Given the description of an element on the screen output the (x, y) to click on. 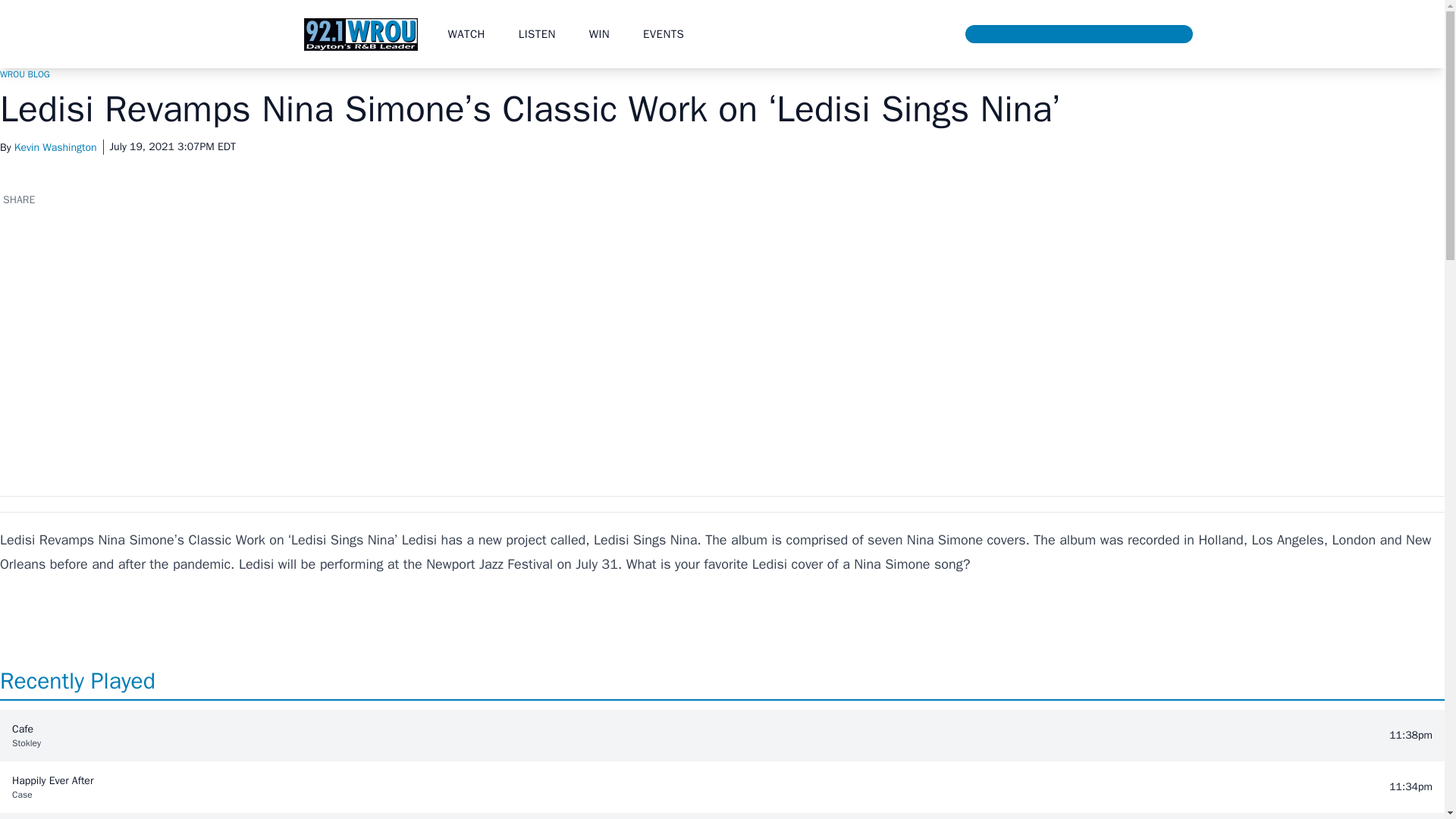
LISTEN (537, 33)
WATCH (465, 33)
Ledisi performs I BLAME YOU Live on David Letterman 2014 (242, 344)
WIN (599, 33)
EVENTS (663, 33)
92.1 WROU (359, 34)
